Given the description of an element on the screen output the (x, y) to click on. 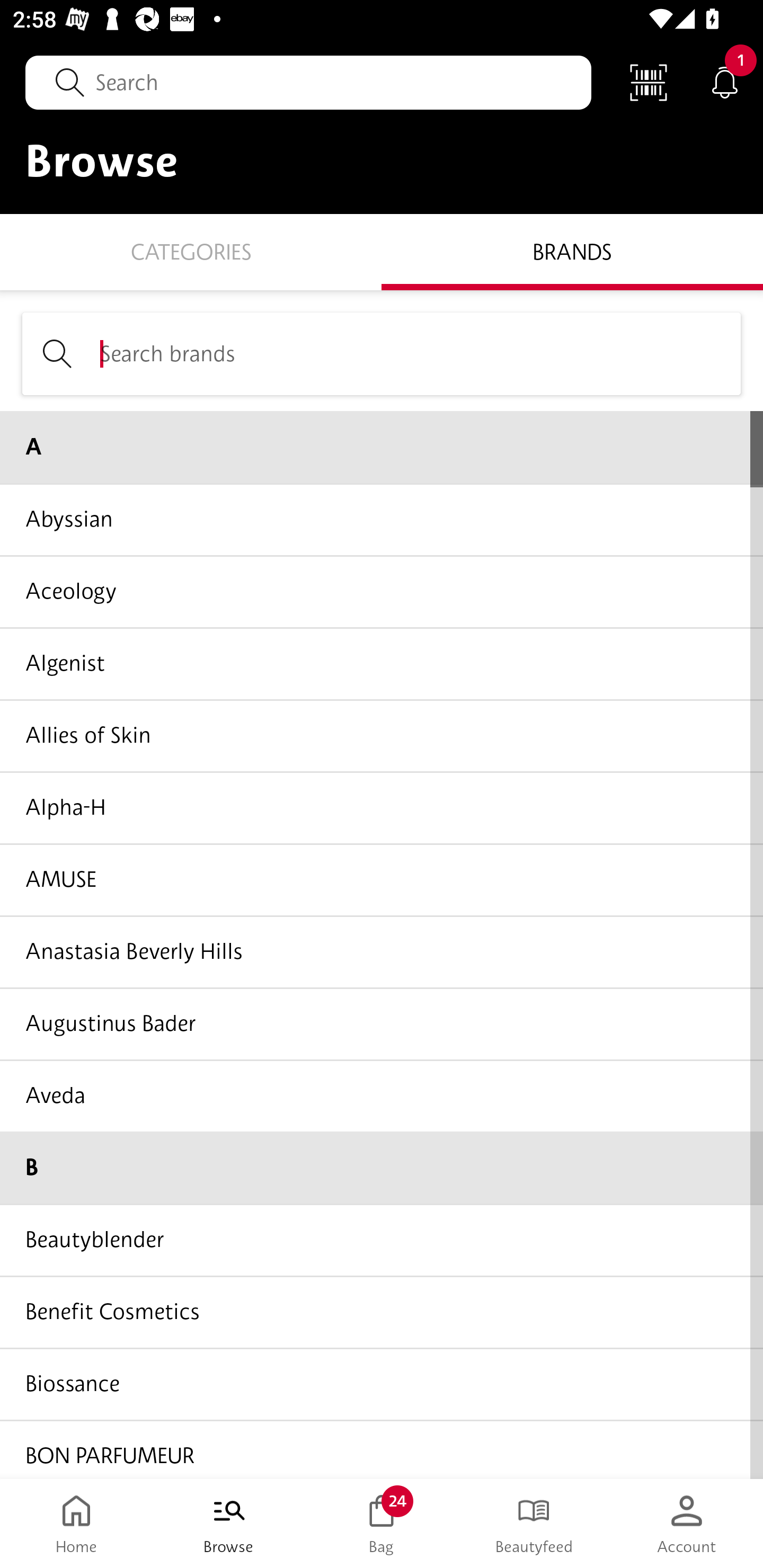
Scan Code (648, 81)
Notifications (724, 81)
Search (308, 81)
Categories CATEGORIES (190, 251)
Search brands (381, 353)
A (381, 446)
Abyssian (381, 518)
Aceology (381, 591)
Algenist (381, 663)
Allies of Skin (381, 735)
Alpha-H (381, 807)
AMUSE (381, 879)
Anastasia Beverly Hills (381, 951)
Augustinus Bader (381, 1023)
Aveda (381, 1095)
B (381, 1168)
Beautyblender (381, 1240)
Benefit Cosmetics (381, 1311)
Biossance (381, 1382)
BON PARFUMEUR (381, 1448)
Home (76, 1523)
Bag 24 Bag (381, 1523)
Beautyfeed (533, 1523)
Account (686, 1523)
